Given the description of an element on the screen output the (x, y) to click on. 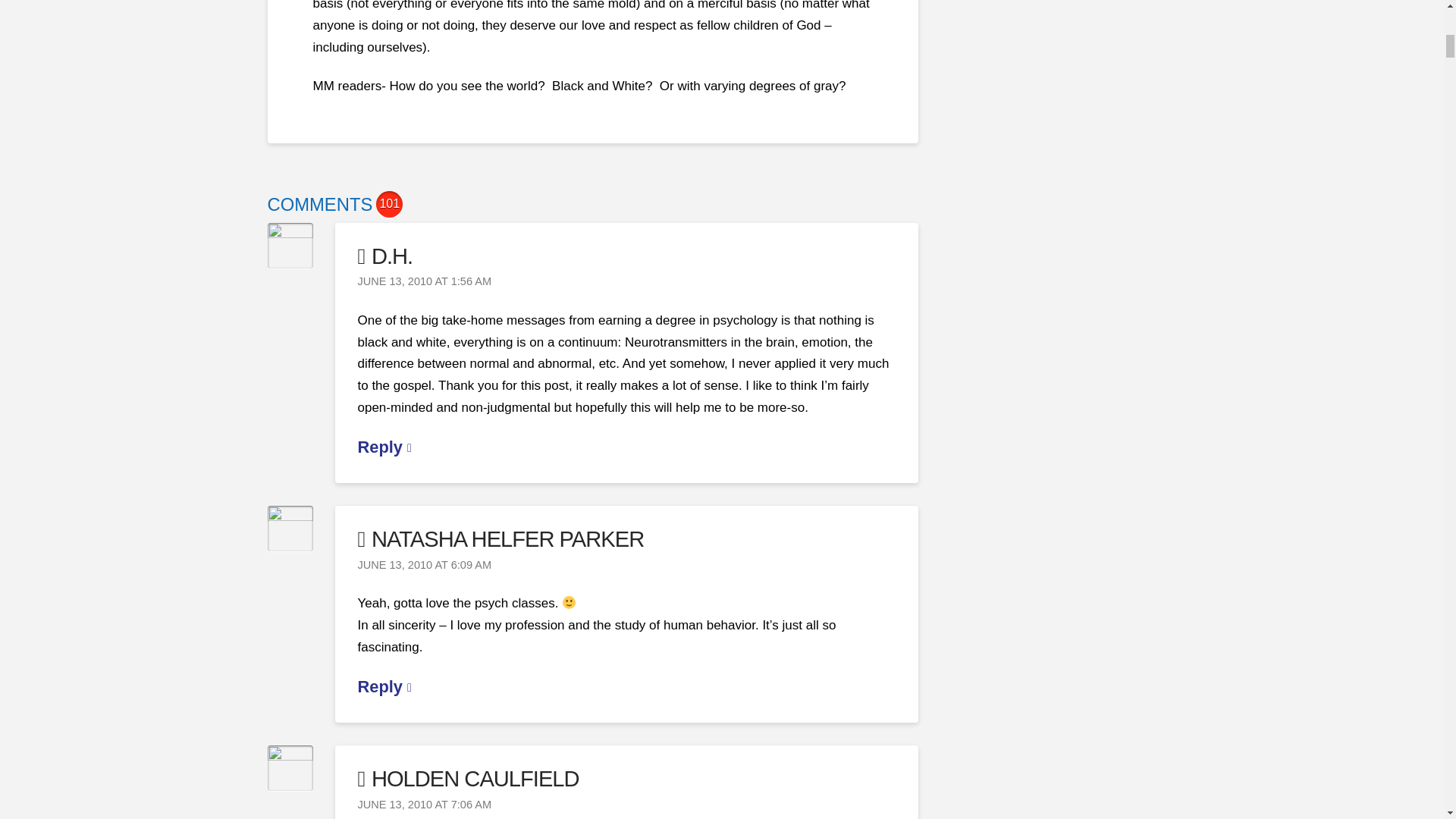
JUNE 13, 2010 AT 7:06 AM (425, 804)
Reply (385, 686)
Reply (385, 446)
JUNE 13, 2010 AT 6:09 AM (425, 564)
NATASHA HELFER PARKER (501, 539)
D.H. (385, 256)
JUNE 13, 2010 AT 1:56 AM (425, 281)
